Given the description of an element on the screen output the (x, y) to click on. 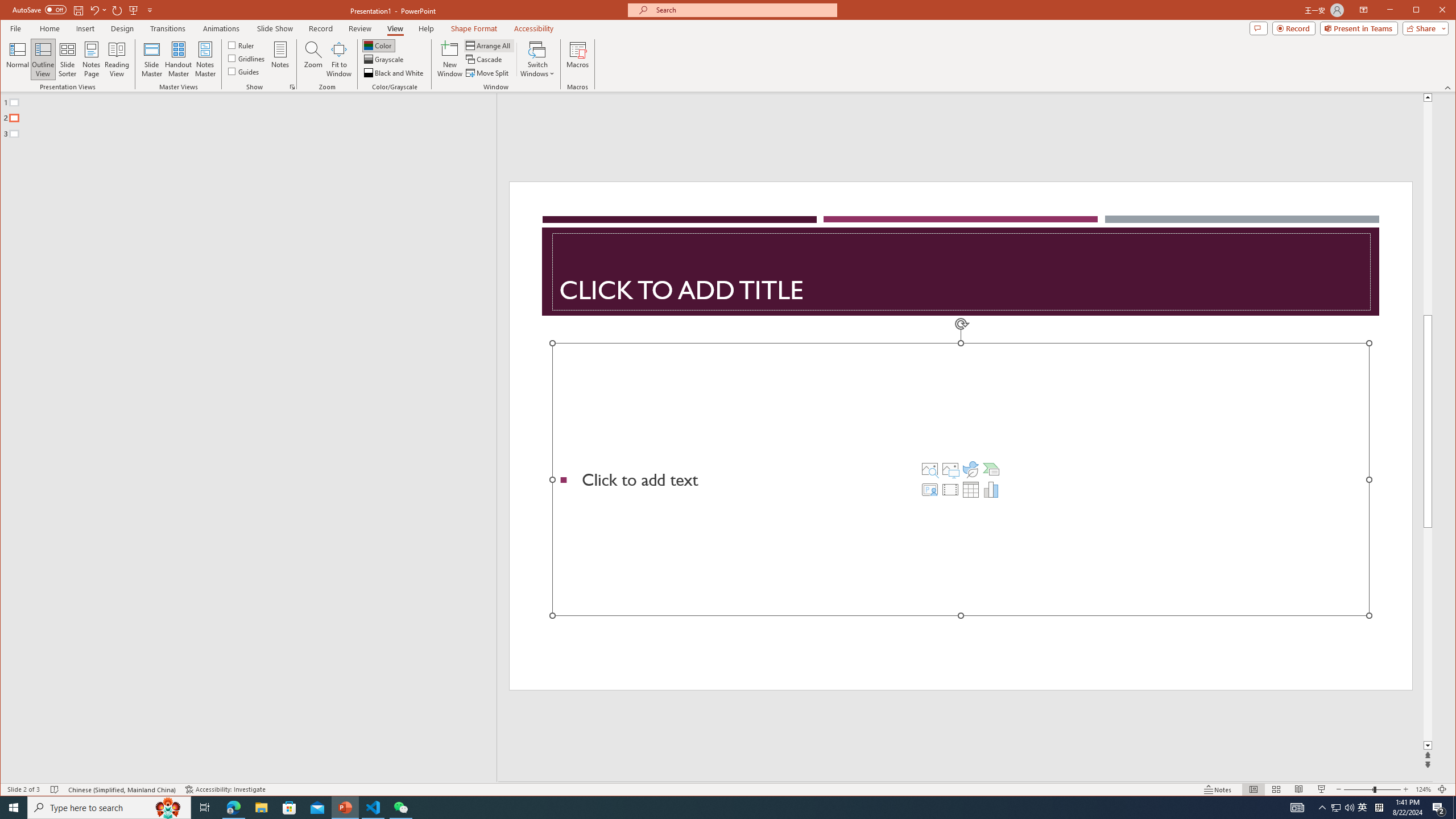
Arrange All (488, 45)
Grid Settings... (292, 86)
Cascade (484, 59)
Notes (279, 59)
